Given the description of an element on the screen output the (x, y) to click on. 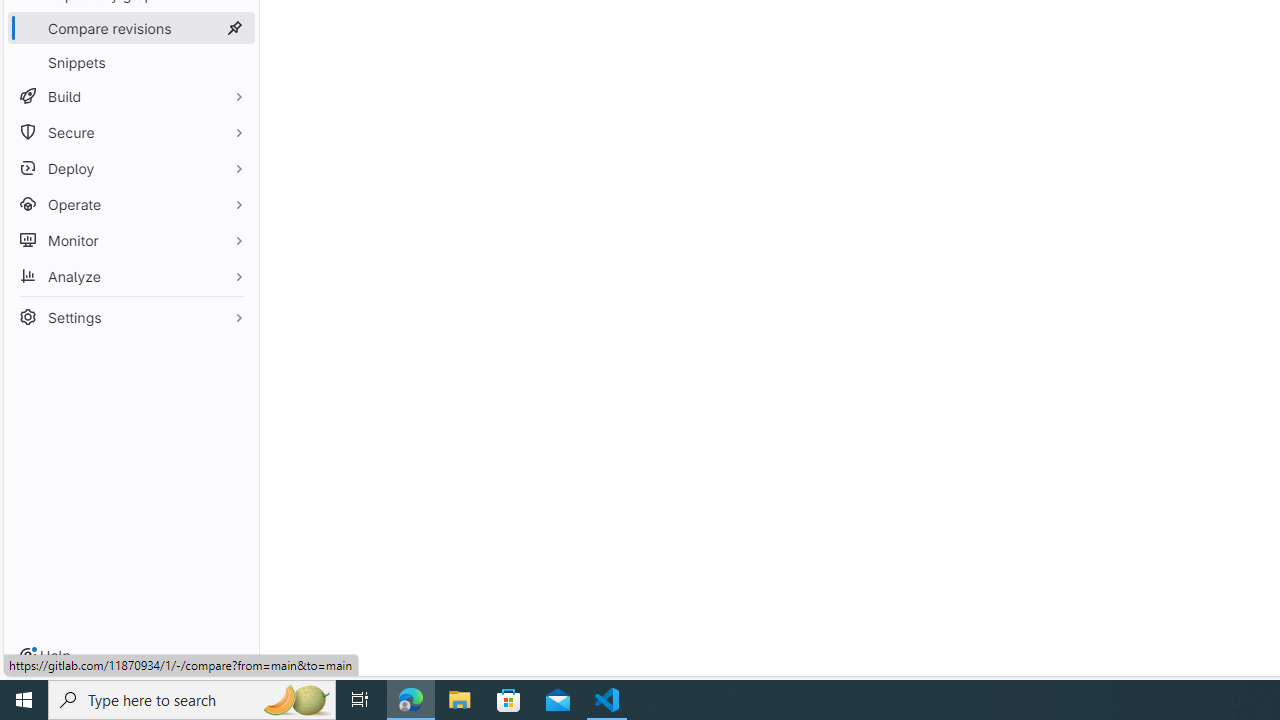
Build (130, 96)
Monitor (130, 240)
Secure (130, 132)
Operate (130, 204)
